Given the description of an element on the screen output the (x, y) to click on. 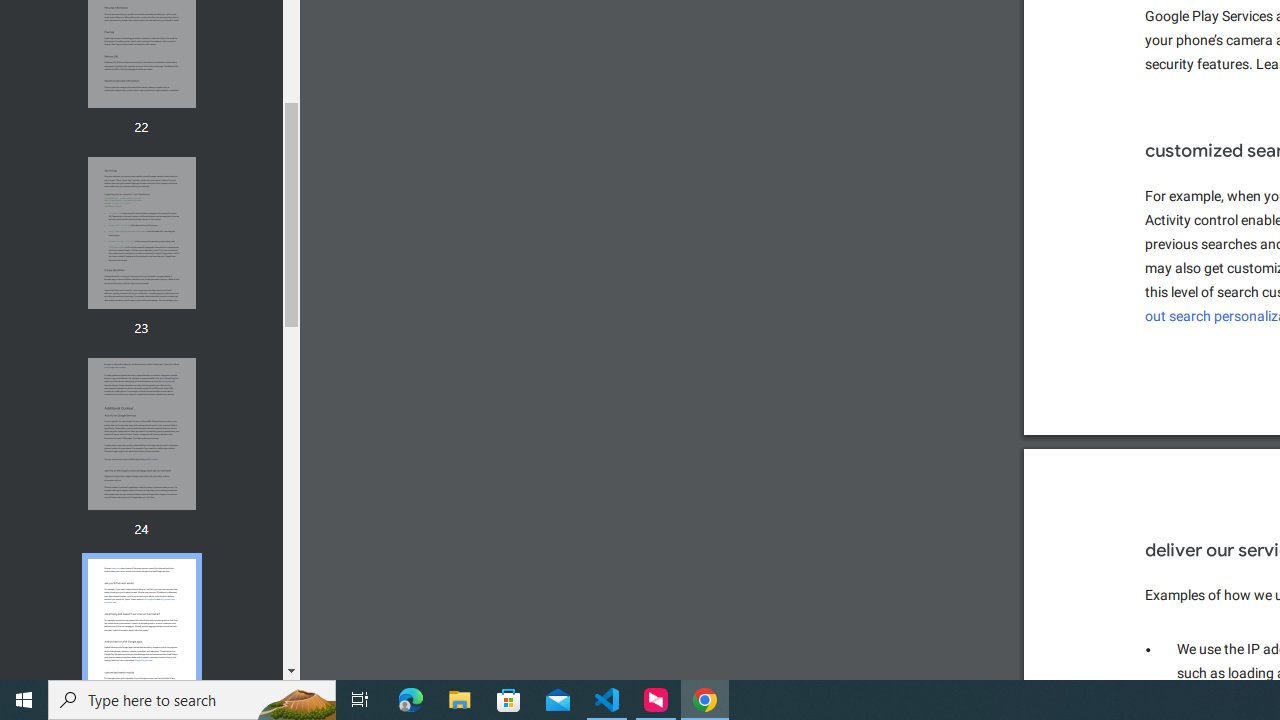
AutomationID: thumbnail (141, 634)
Thumbnail for page 24 (141, 434)
Thumbnail for page 23 (141, 233)
